Given the description of an element on the screen output the (x, y) to click on. 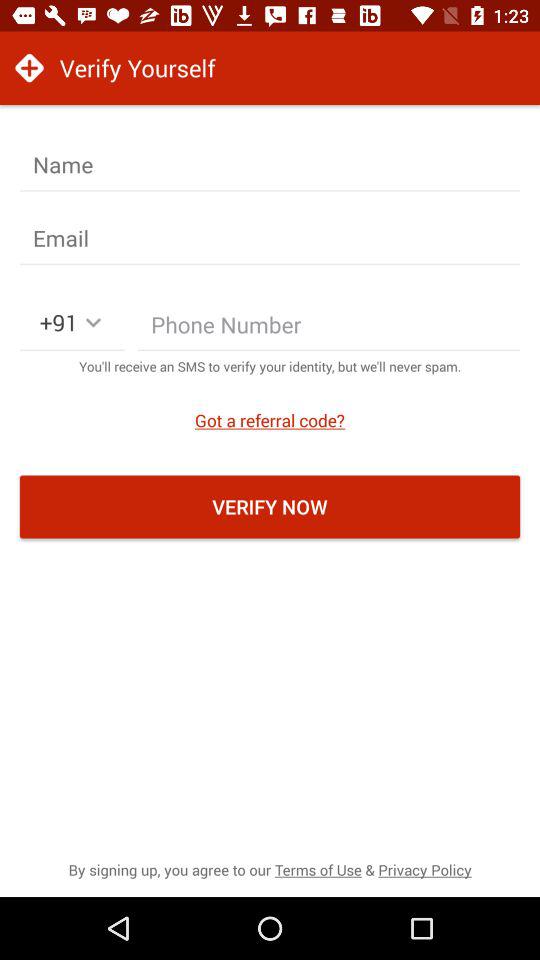
select item below got a referral icon (269, 506)
